Given the description of an element on the screen output the (x, y) to click on. 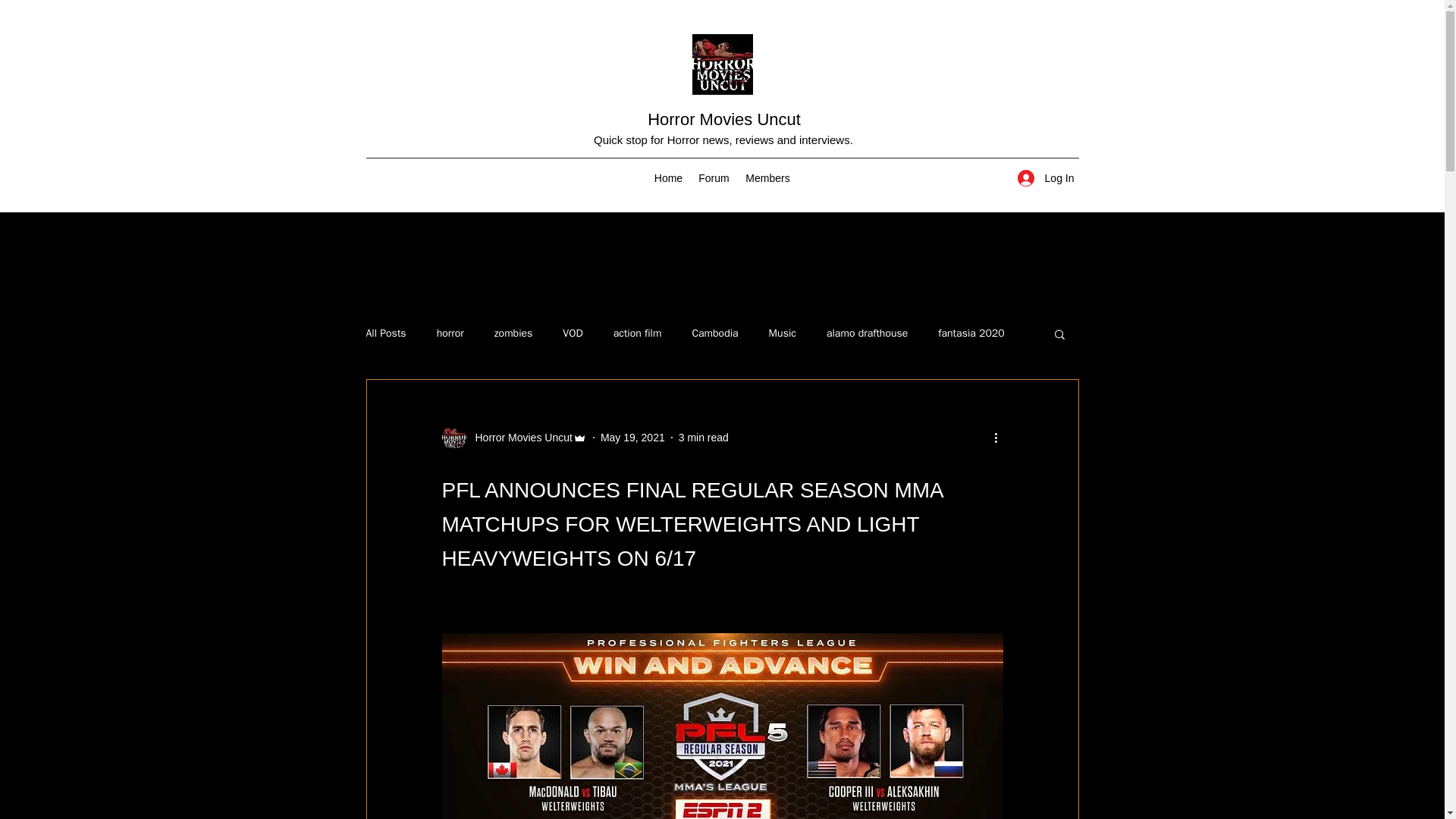
Forum (713, 178)
VOD (572, 333)
Home (668, 178)
Horror Movies Uncut  (518, 437)
All Posts (385, 333)
action film (637, 333)
Horror Movies Uncut (513, 437)
Log In (1045, 178)
horror (450, 333)
Cambodia (714, 333)
